Given the description of an element on the screen output the (x, y) to click on. 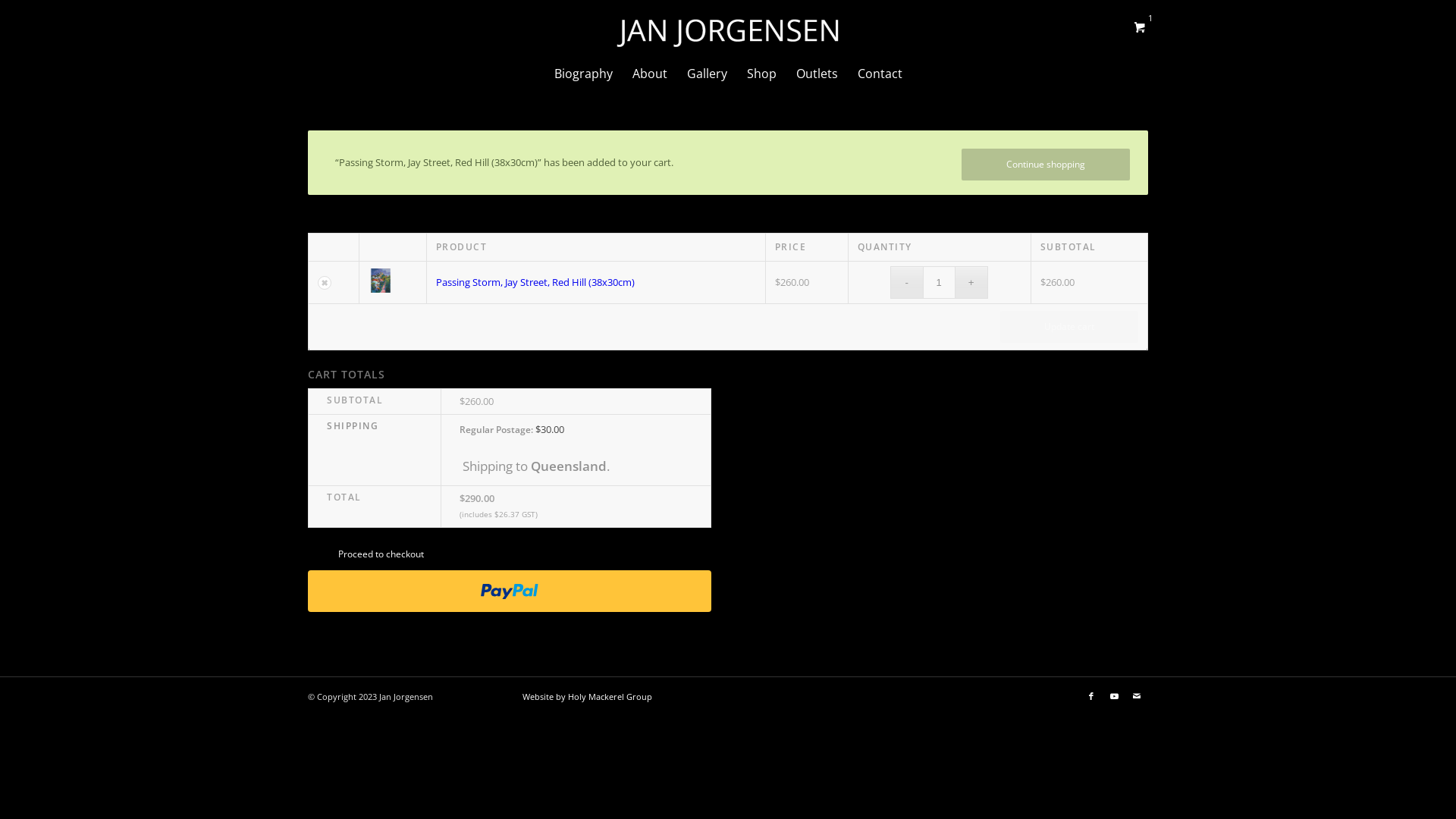
Biography Element type: text (583, 73)
Facebook Element type: hover (1090, 695)
Gallery Element type: text (706, 73)
About Element type: text (648, 73)
Update cart Element type: text (1069, 326)
PayPal Element type: hover (509, 601)
Passing Storm, Jay Street, Red Hill (38x30cm) Element type: text (535, 281)
Website by Holy Mackerel Group Element type: text (587, 696)
Continue shopping Element type: text (1045, 164)
1 Element type: text (1139, 26)
Proceed to checkout Element type: text (380, 554)
Youtube Element type: hover (1113, 695)
Mail Element type: hover (1136, 695)
Contact Element type: text (879, 73)
Shop Element type: text (761, 73)
Outlets Element type: text (816, 73)
